Given the description of an element on the screen output the (x, y) to click on. 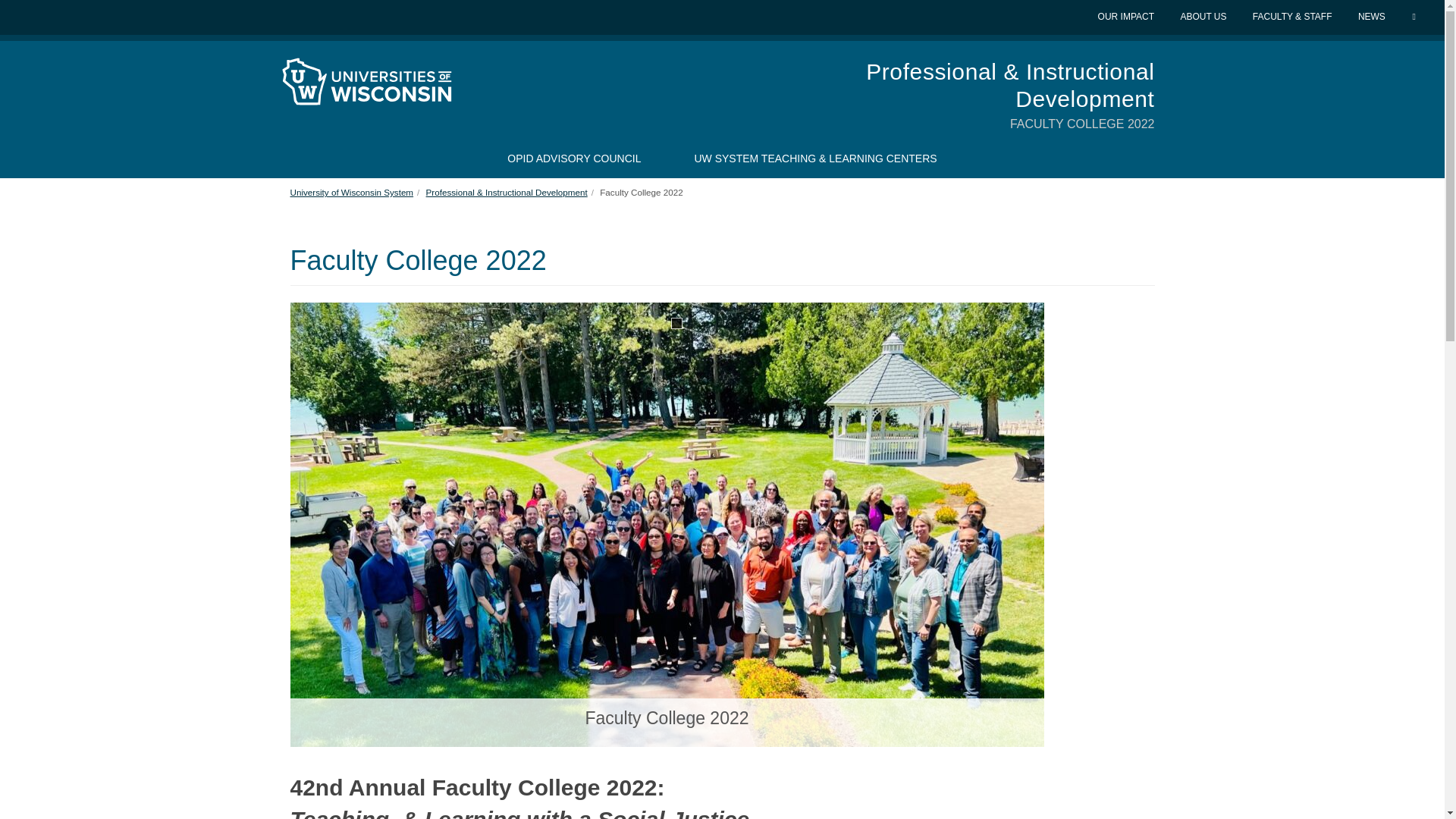
NEWS (1373, 16)
ABOUT US (1204, 16)
University of Wisconsin System (351, 192)
OUR IMPACT (1127, 16)
SEARCH (1415, 16)
1 (675, 323)
OPID ADVISORY COUNCIL (574, 158)
